Given the description of an element on the screen output the (x, y) to click on. 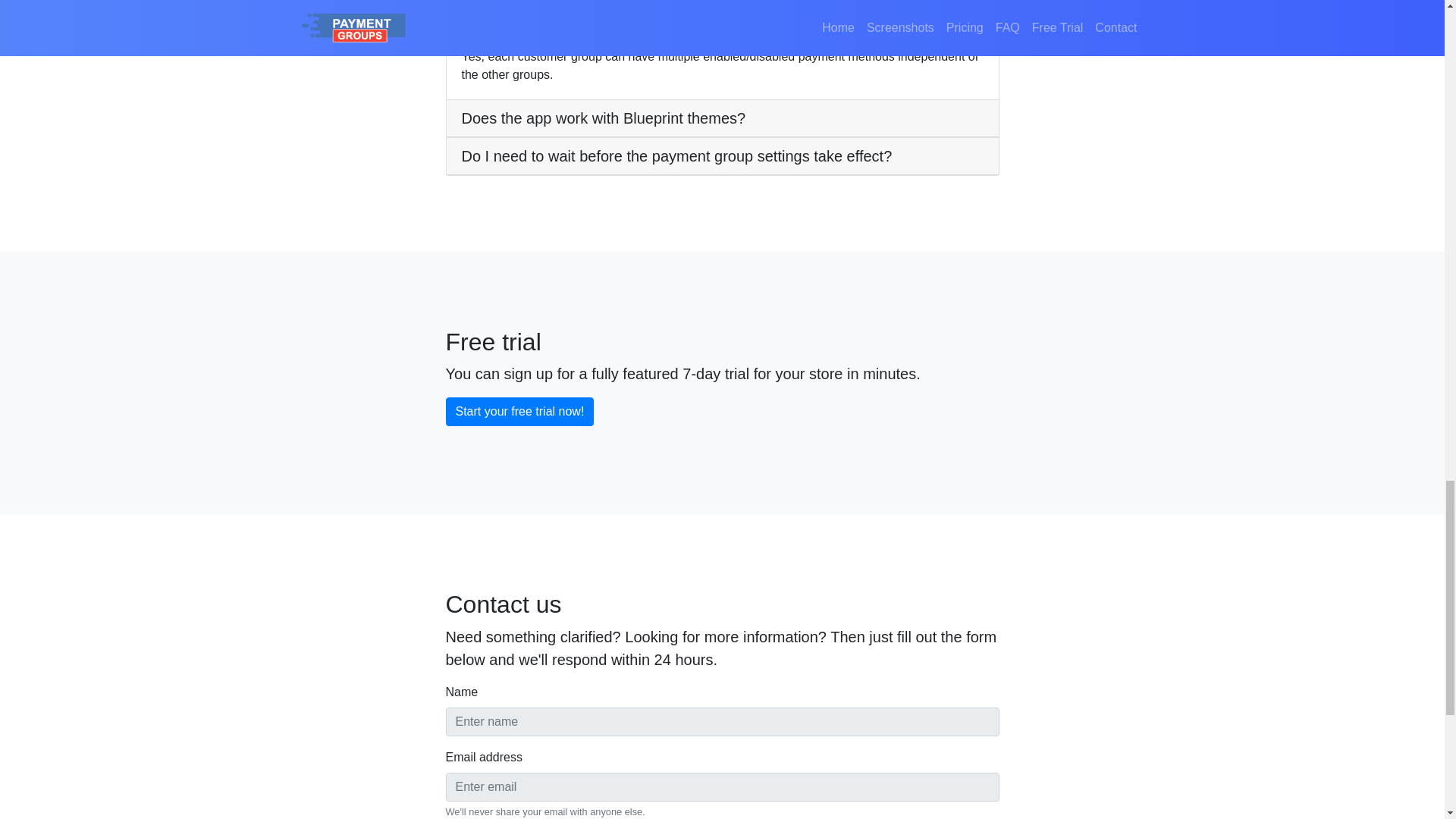
Start your free trial now! (519, 411)
Does the app work with Blueprint themes? (603, 117)
